Given the description of an element on the screen output the (x, y) to click on. 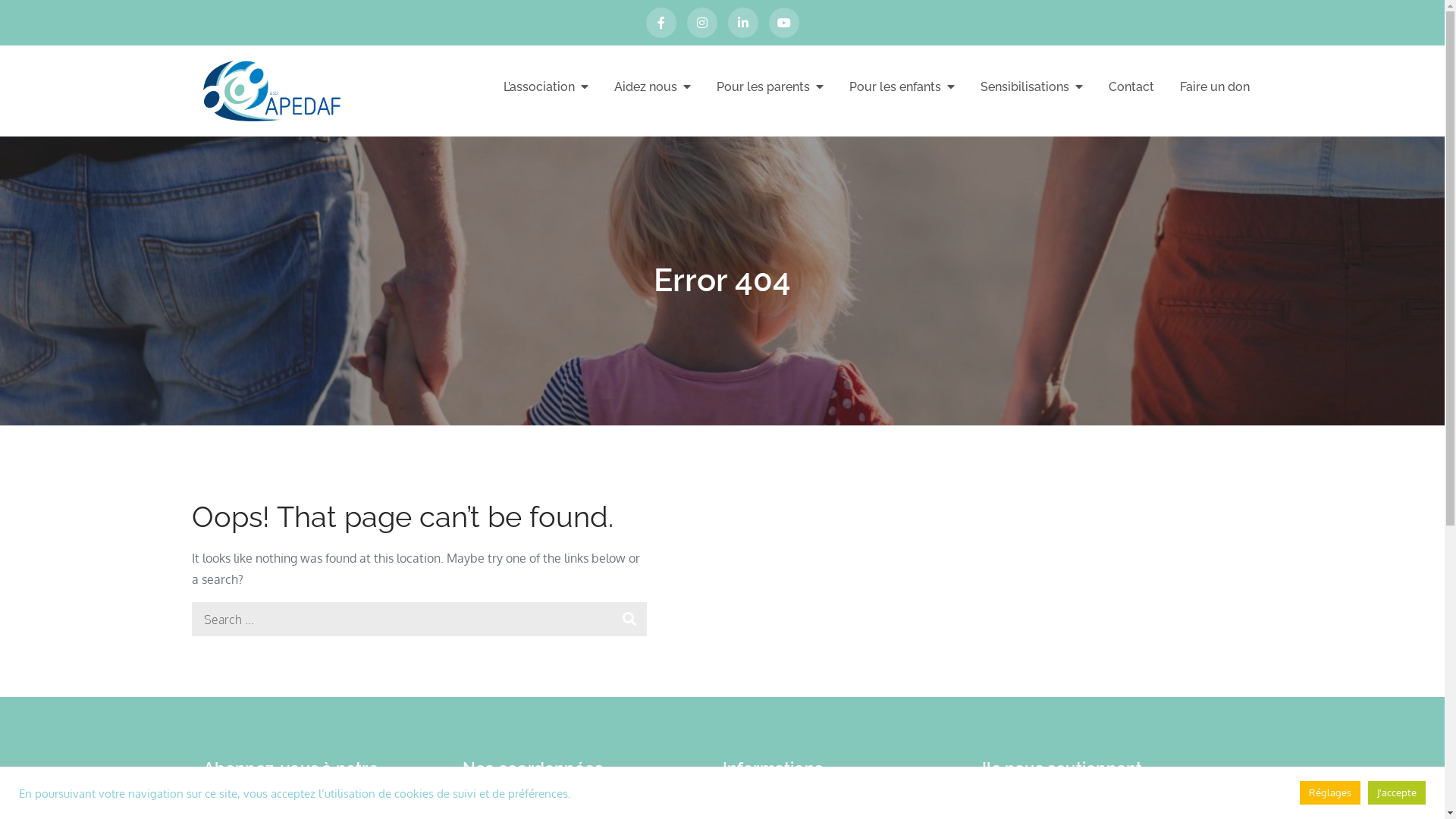
Faire un don Element type: text (1214, 86)
Contact Element type: text (1131, 86)
Pour les parents Element type: text (768, 86)
Search Element type: text (629, 619)
Sensibilisations Element type: text (1030, 86)
Aidez nous Element type: text (652, 86)
Pour les enfants Element type: text (901, 86)
Search for: Element type: hover (418, 619)
J'accepte Element type: text (1396, 792)
